Given the description of an element on the screen output the (x, y) to click on. 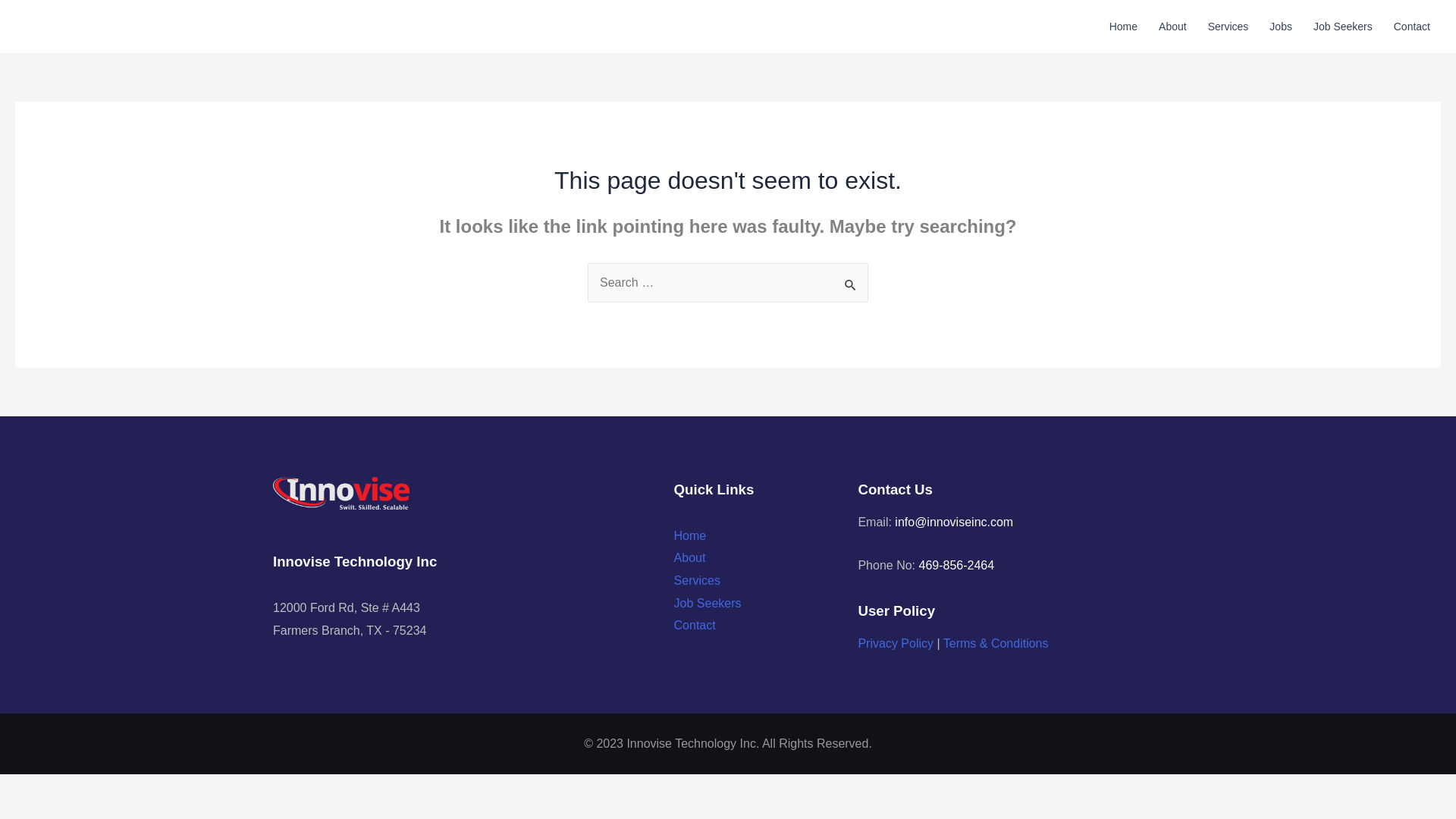
Job Seekers (1343, 26)
Privacy Policy (895, 643)
Contact (695, 625)
About (1172, 26)
About (690, 557)
Contact (1412, 26)
Services (1227, 26)
Home (690, 535)
Home (1123, 26)
Job Seekers (707, 603)
